Given the description of an element on the screen output the (x, y) to click on. 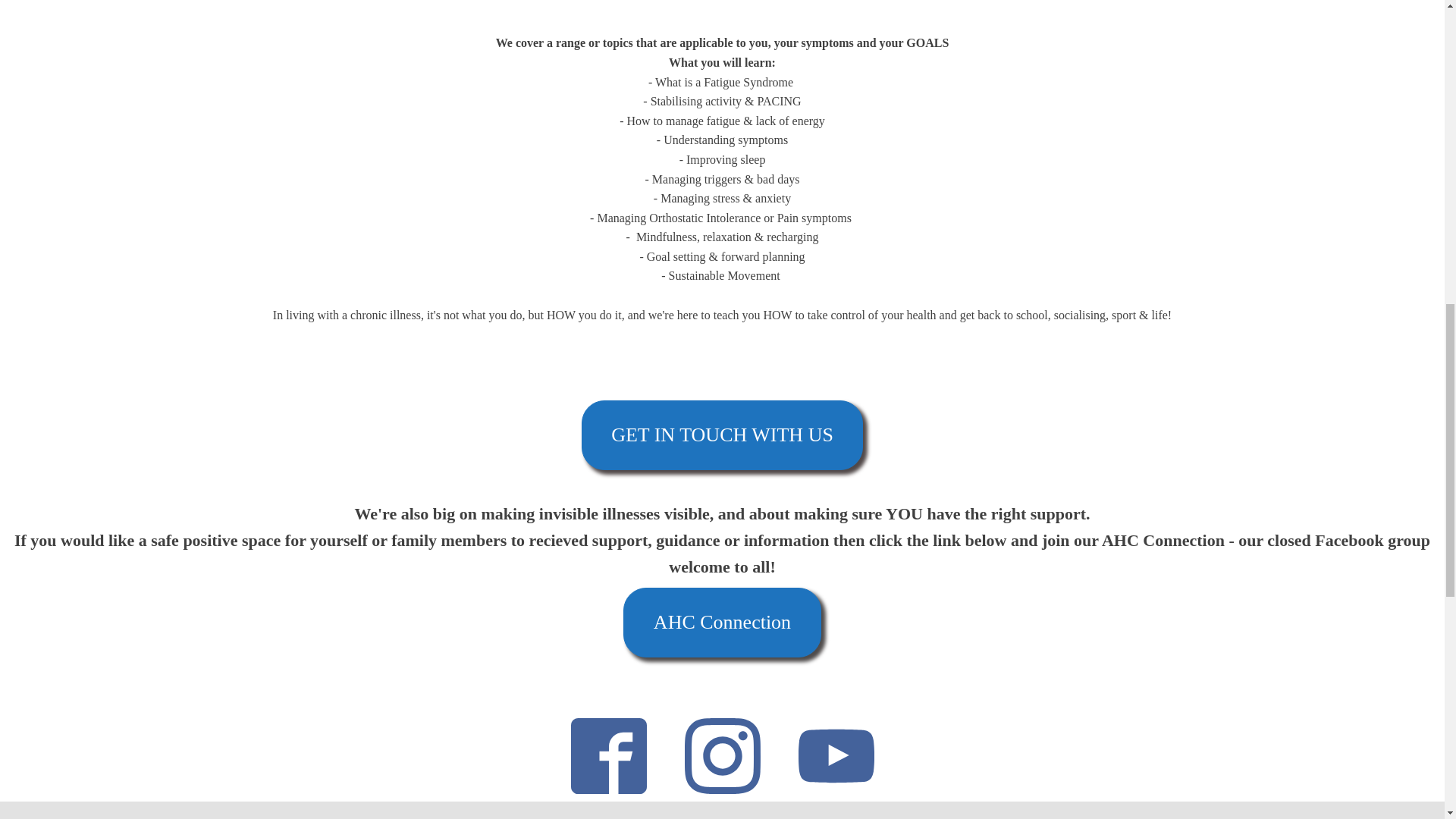
AHC Connection (722, 622)
GET IN TOUCH WITH US (721, 435)
